Given the description of an element on the screen output the (x, y) to click on. 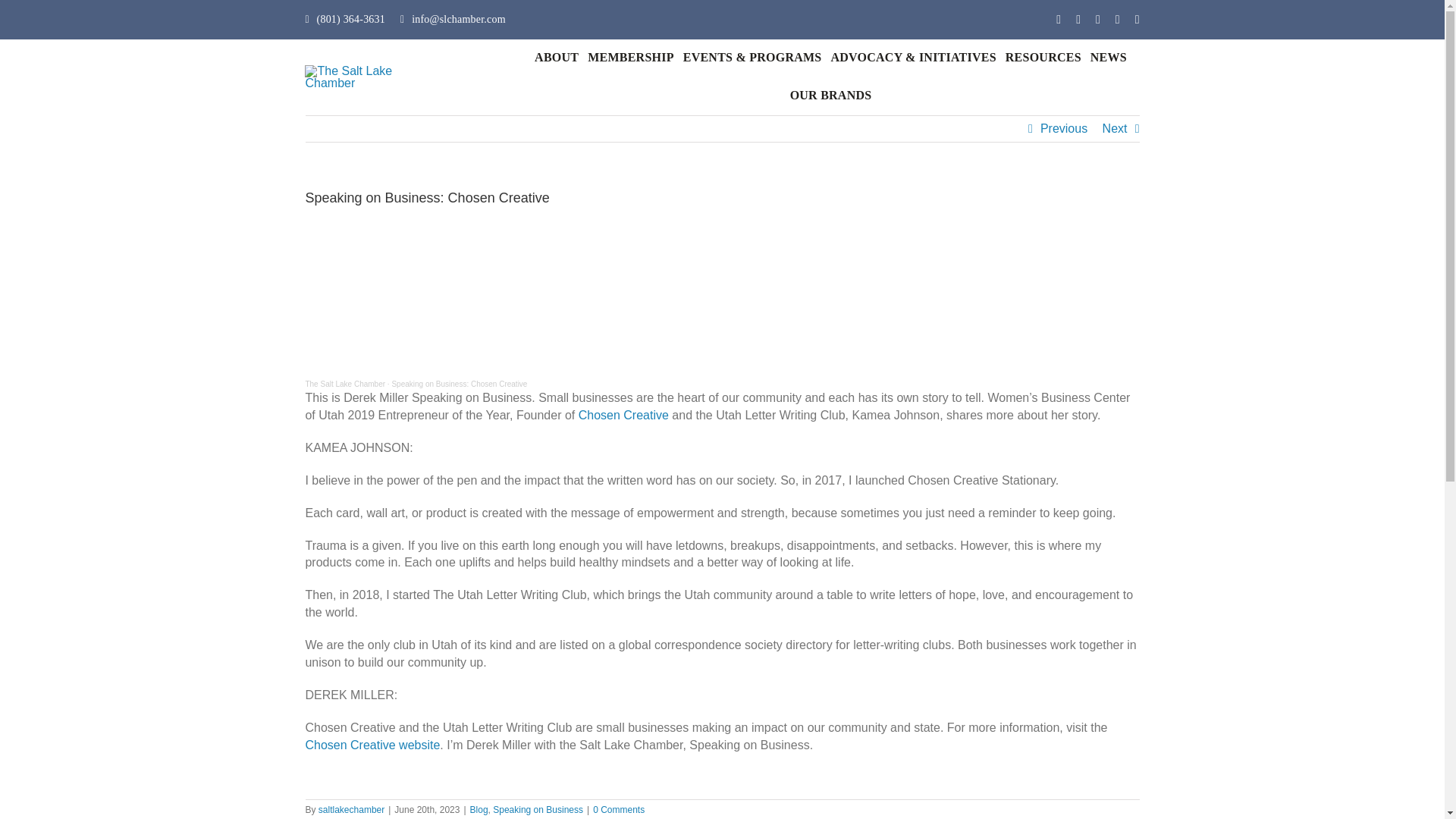
Instagram (1117, 19)
YouTube (1098, 19)
Facebook (1059, 19)
X (1077, 19)
LinkedIn (1137, 19)
ABOUT (556, 57)
Speaking on Business: Chosen Creative (459, 384)
MEMBERSHIP (630, 57)
The Salt Lake Chamber (344, 384)
Posts by saltlakechamber (351, 809)
